Given the description of an element on the screen output the (x, y) to click on. 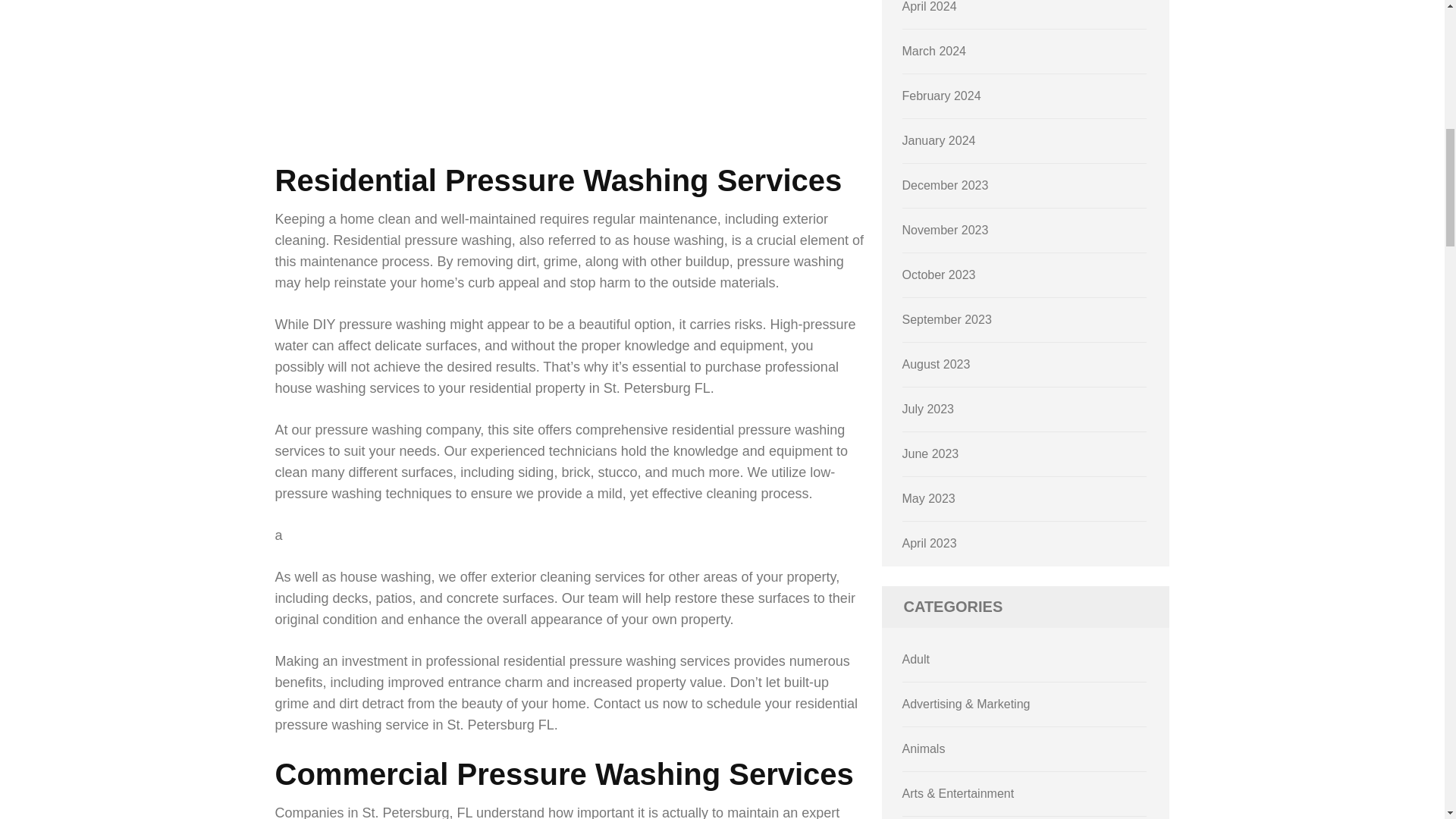
October 2023 (938, 274)
April 2024 (929, 6)
February 2024 (941, 95)
September 2023 (946, 318)
May 2023 (928, 498)
April 2023 (929, 543)
November 2023 (945, 229)
June 2023 (930, 453)
July 2023 (928, 408)
January 2024 (938, 140)
August 2023 (936, 364)
Adult (916, 658)
March 2024 (934, 51)
December 2023 (945, 185)
